Given the description of an element on the screen output the (x, y) to click on. 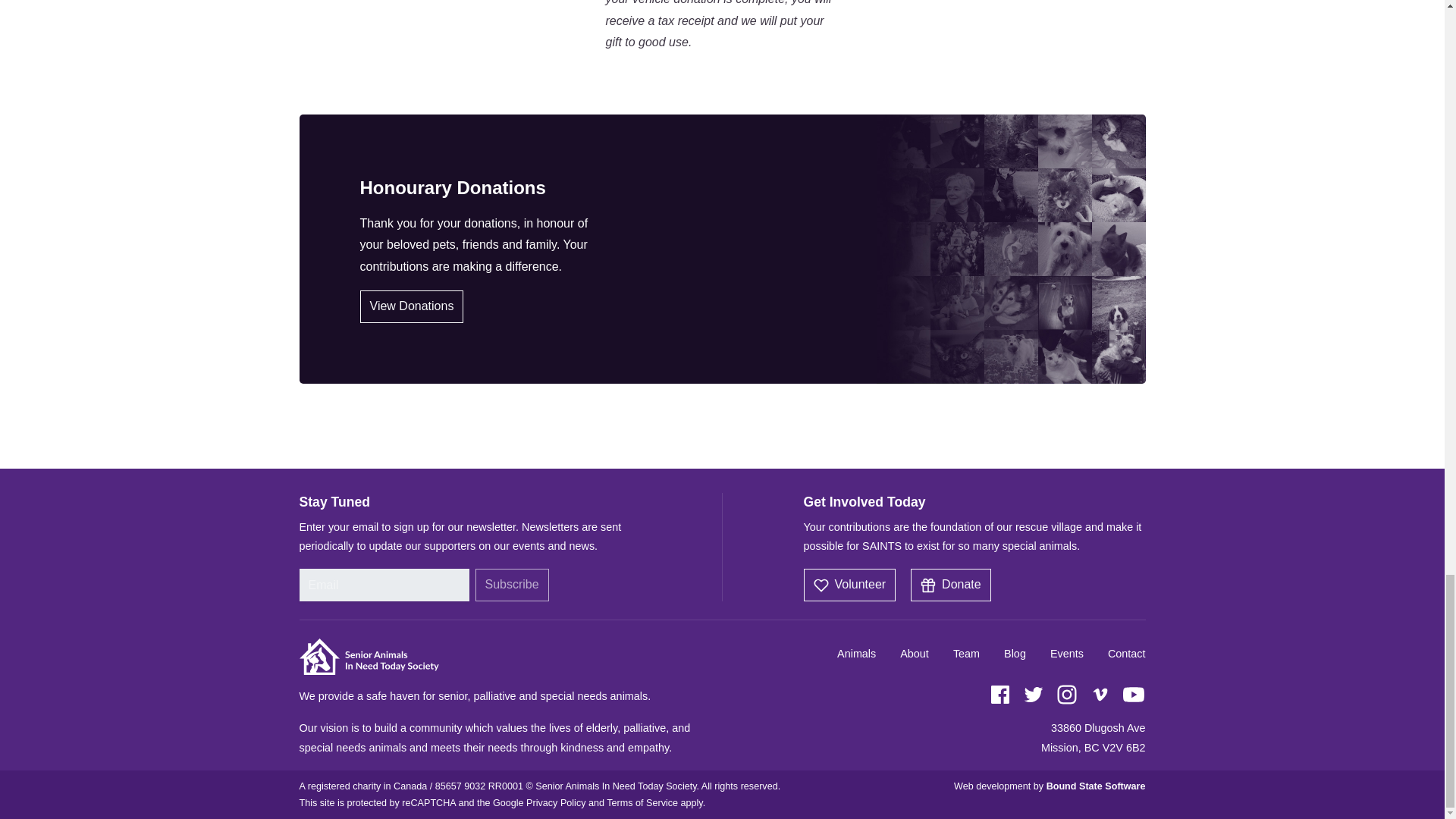
View Donations (411, 306)
